Given the description of an element on the screen output the (x, y) to click on. 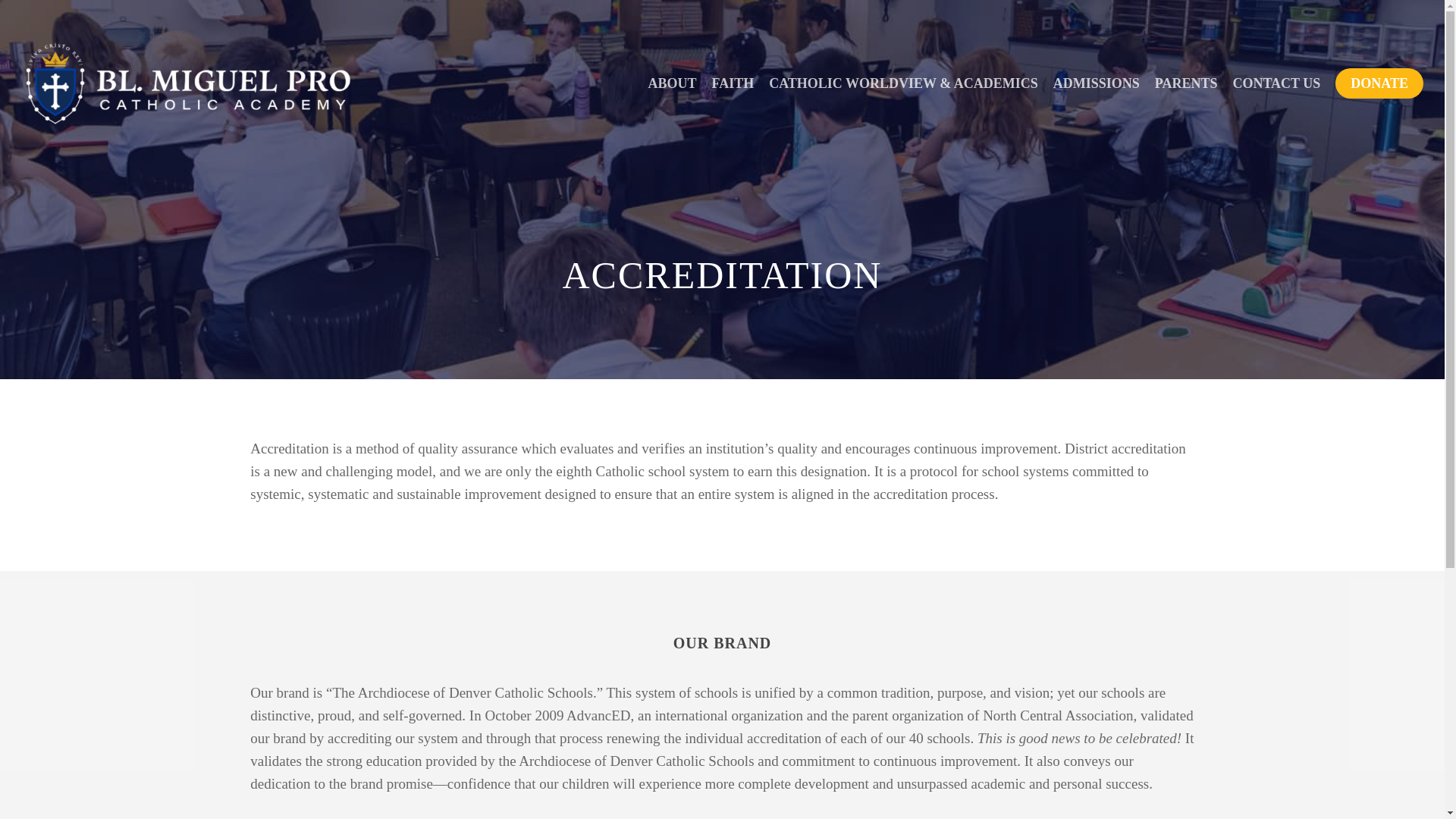
ADMISSIONS (1096, 83)
CONTACT US (1275, 83)
ABOUT (671, 83)
FAITH (732, 83)
DONATE (1379, 83)
PARENTS (1186, 83)
